Given the description of an element on the screen output the (x, y) to click on. 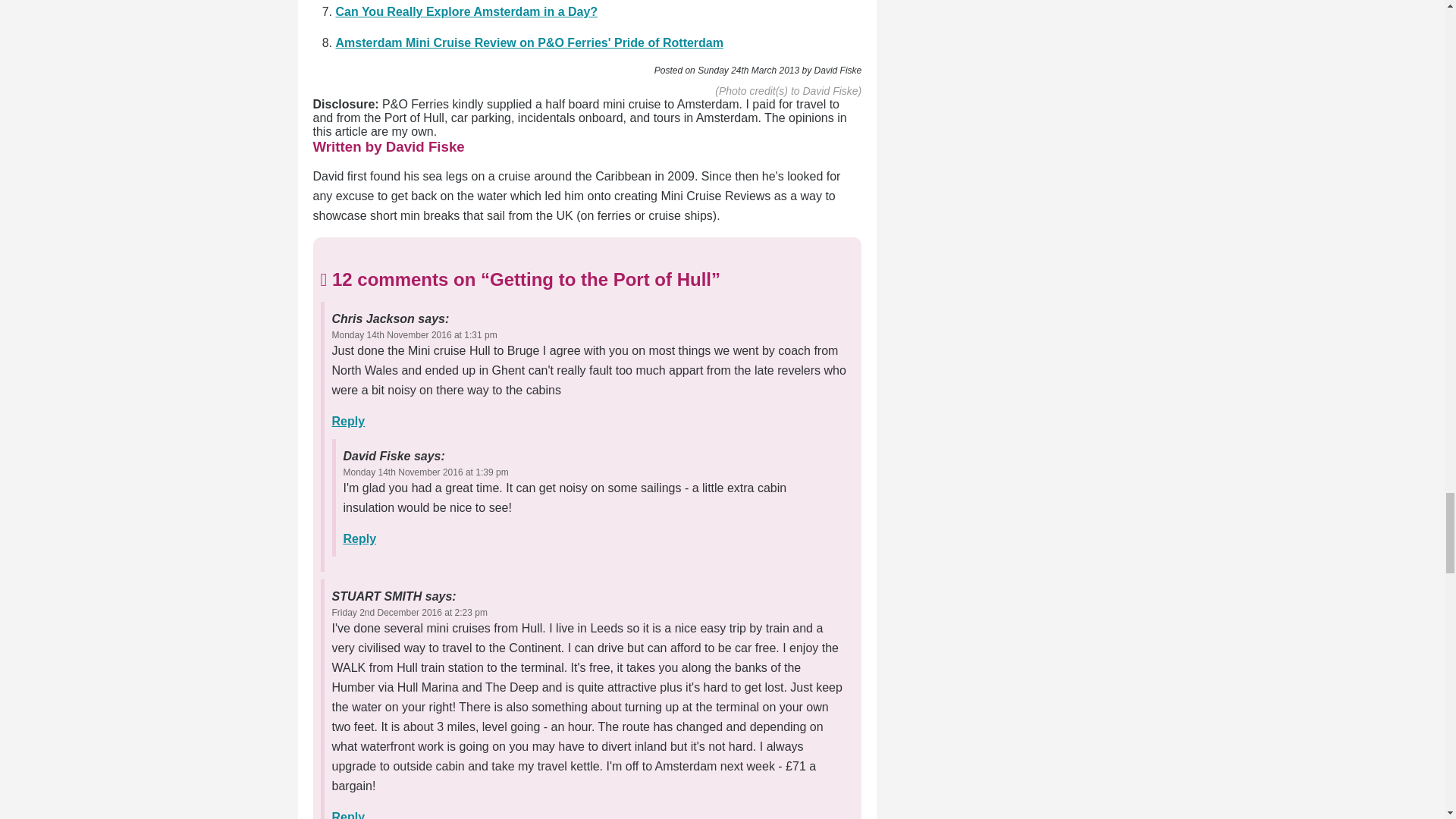
Sunday 24th March 2013 (748, 70)
Can You Really Explore Amsterdam in a Day? (465, 11)
Can You Really Explore Amsterdam in a Day? (465, 11)
Monday 14th November 2016 at 1:31 pm (414, 335)
Monday 14th November 2016 at 1:39 pm (425, 471)
Reply (348, 420)
